Given the description of an element on the screen output the (x, y) to click on. 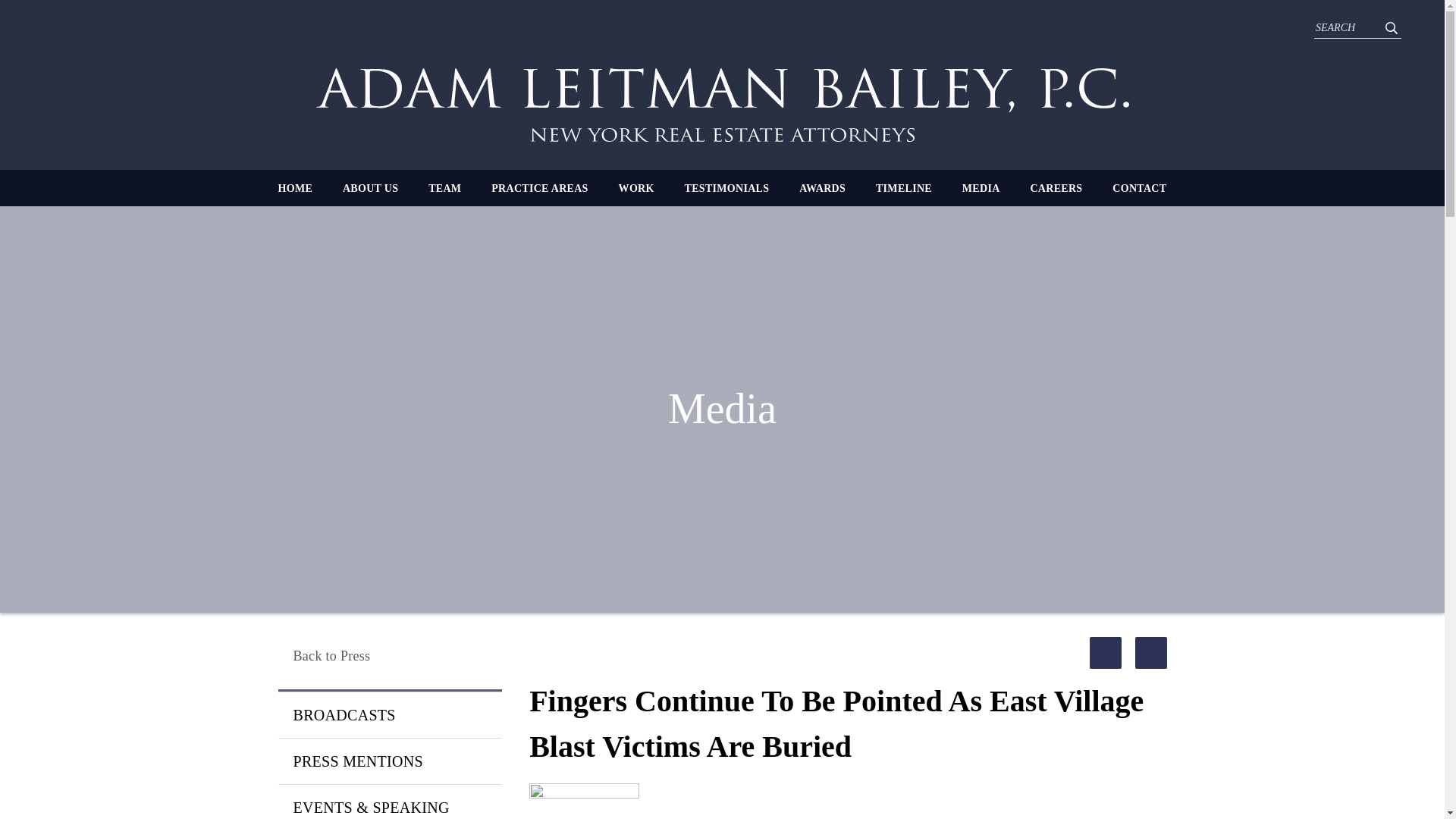
HOME (295, 187)
AWARDS (822, 187)
ABOUT US (369, 187)
Back to Press (389, 656)
PRESS MENTIONS (389, 760)
TESTIMONIALS (727, 187)
TEAM (444, 187)
MEDIA (981, 187)
TIMELINE (903, 187)
CONTACT (1139, 187)
WORK (635, 187)
PRACTICE AREAS (540, 187)
BROADCASTS (389, 714)
CAREERS (1055, 187)
